Given the description of an element on the screen output the (x, y) to click on. 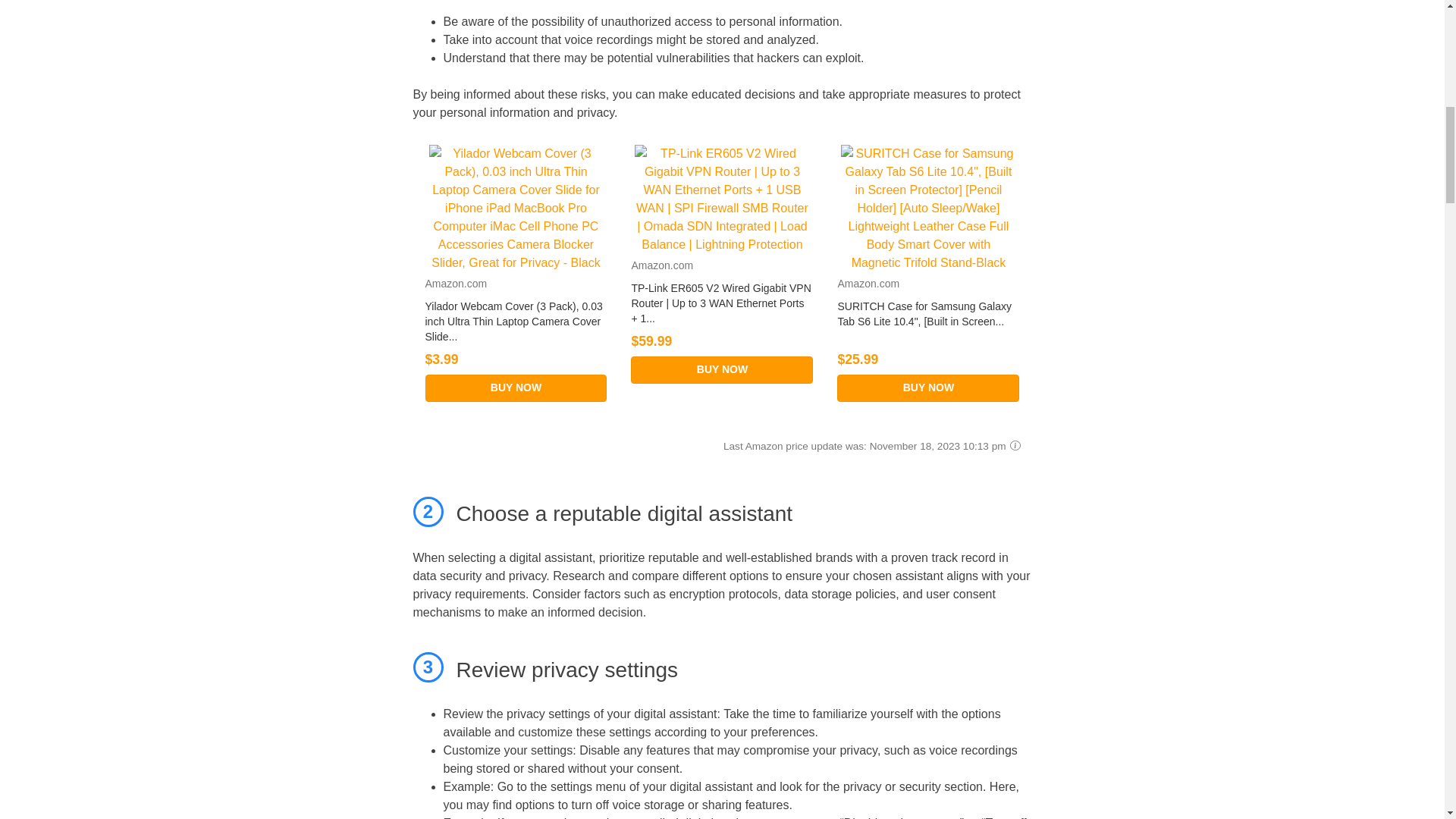
BUY NOW (721, 370)
BUY NOW (928, 388)
BUY NOW (516, 388)
